Given the description of an element on the screen output the (x, y) to click on. 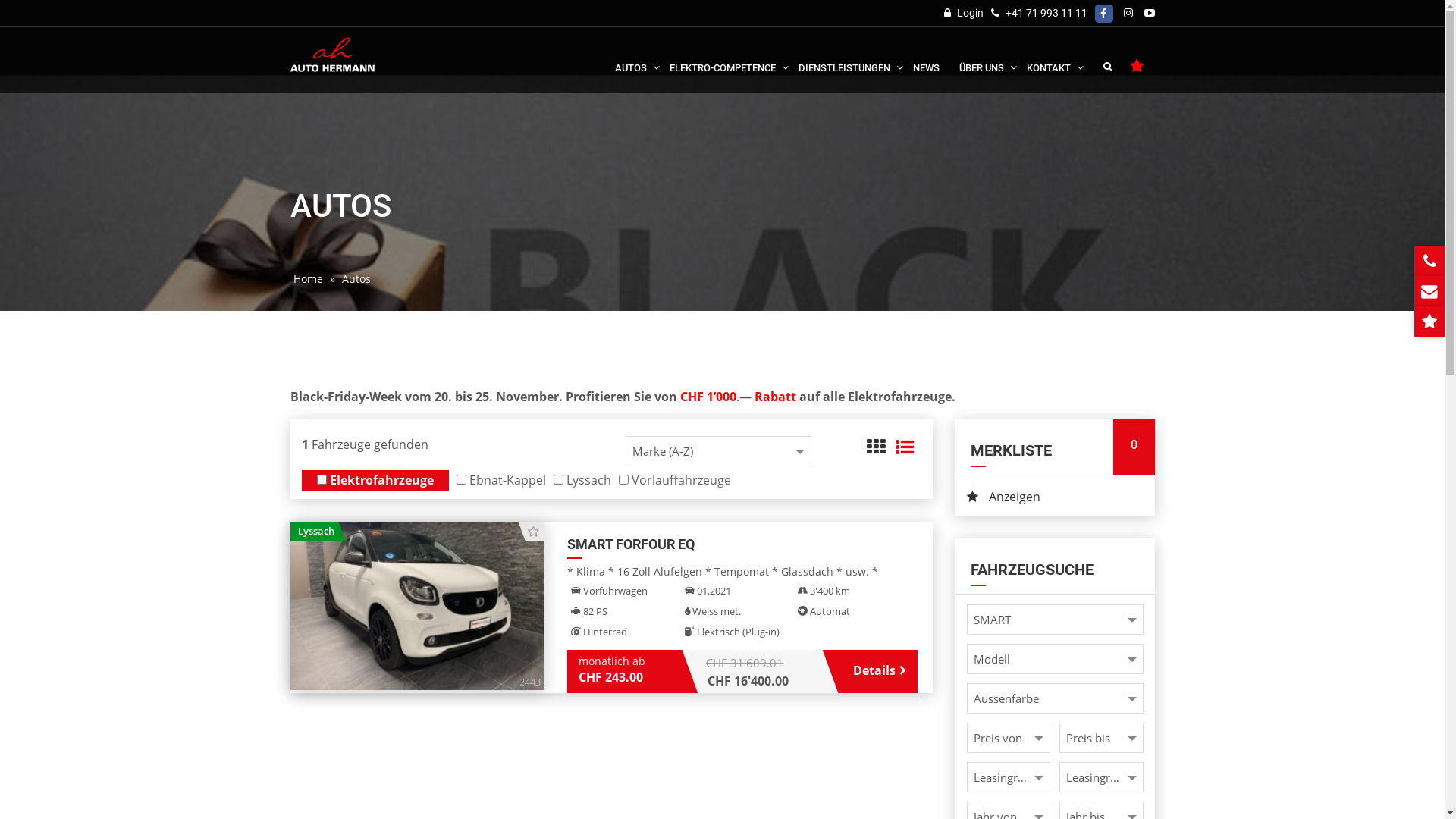
+41 71 993 11 11 Element type: text (1044, 12)
DIENSTLEISTUNGEN Element type: text (845, 57)
NEWS Element type: text (926, 57)
Suchen Element type: text (1107, 65)
Home Element type: text (307, 278)
SMART FORFOUR EQ Element type: text (742, 543)
Lyssach
2443 Element type: text (416, 605)
Details Element type: text (874, 670)
ELEKTRO-COMPETENCE Element type: text (723, 57)
AUTOS Element type: text (632, 57)
Anzeigen Element type: text (1054, 496)
Login Element type: text (962, 12)
KONTAKT Element type: text (1049, 57)
